Given the description of an element on the screen output the (x, y) to click on. 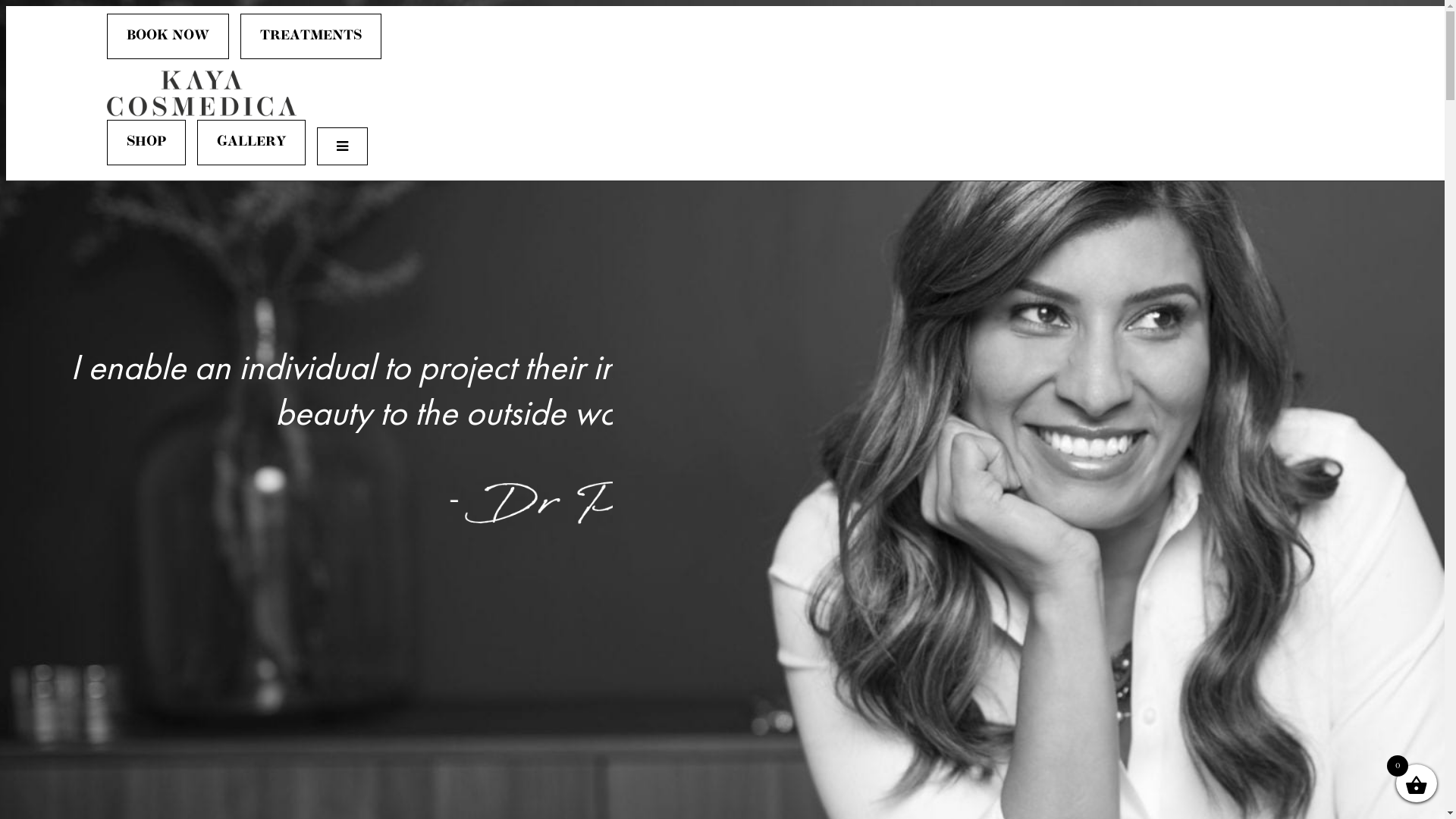
SHOP Element type: text (145, 142)
BOOK NOW Element type: text (167, 36)
GALLERY Element type: text (251, 142)
TREATMENTS Element type: text (310, 36)
